Given the description of an element on the screen output the (x, y) to click on. 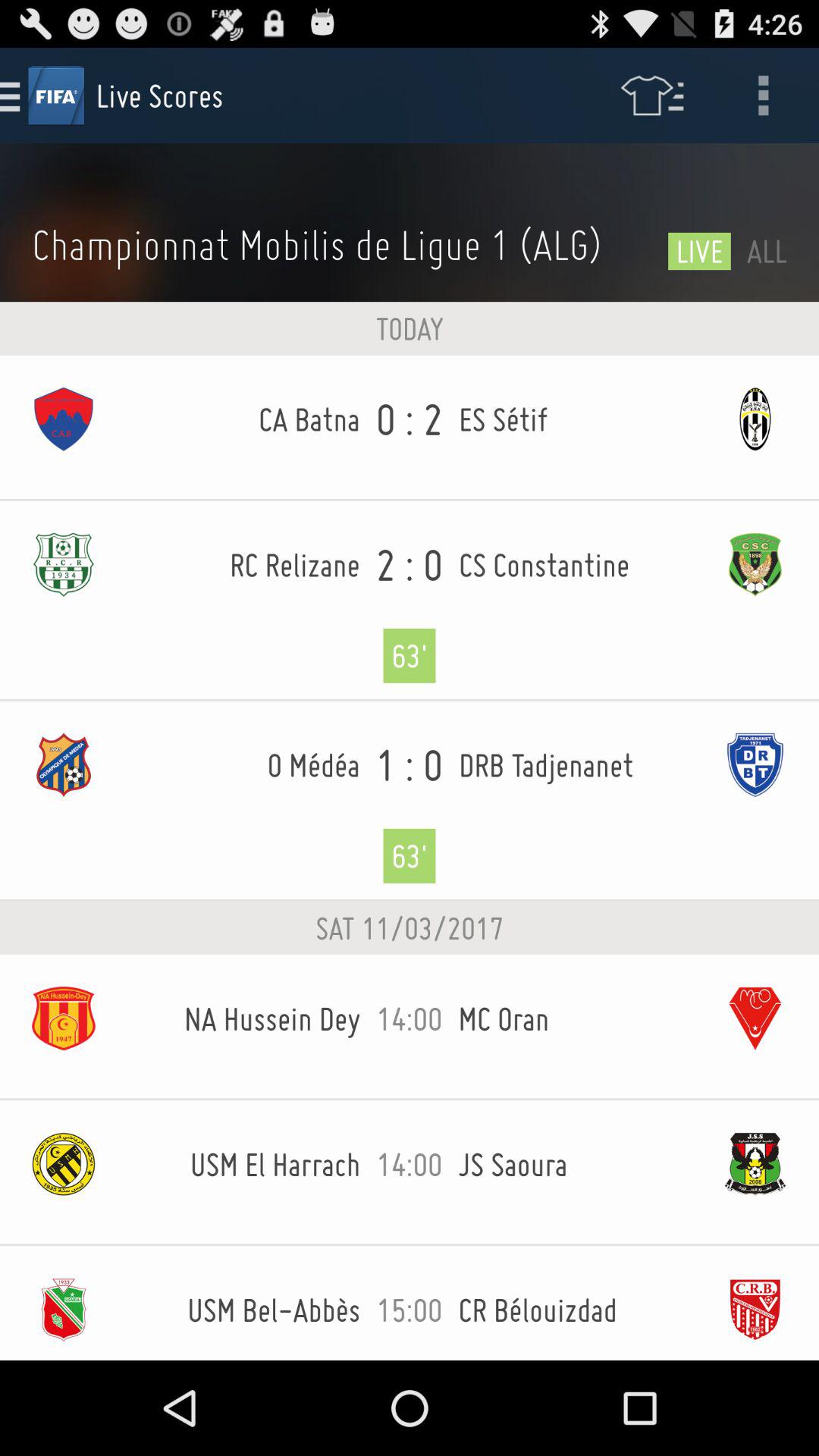
tap drb tadjenanet item (574, 764)
